Given the description of an element on the screen output the (x, y) to click on. 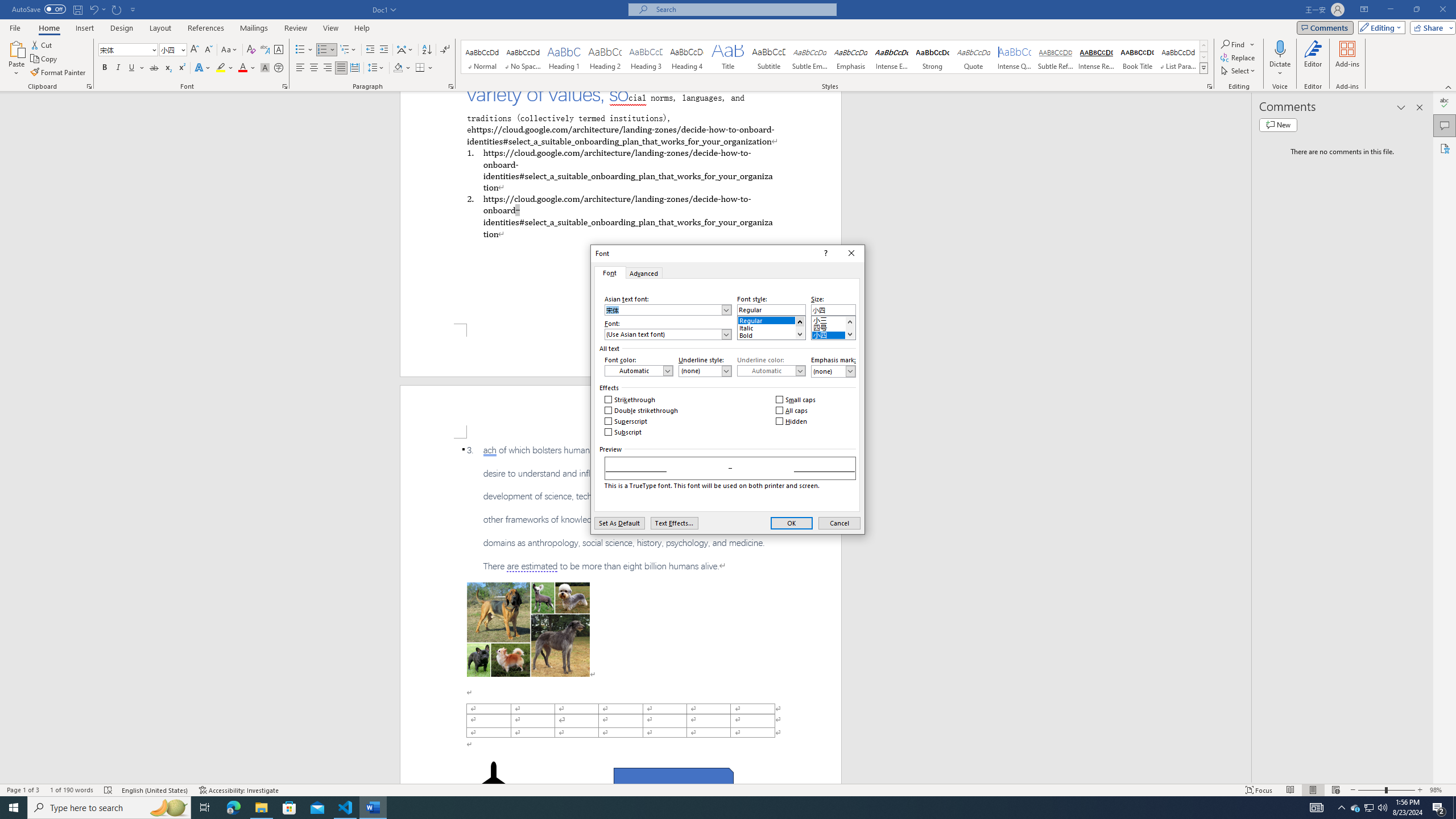
Shading RGB(0, 0, 0) (397, 67)
Accessibility (1444, 147)
Paragraph... (450, 85)
Select (1238, 69)
Bold (104, 67)
Styles... (1209, 85)
Context help (824, 253)
